Given the description of an element on the screen output the (x, y) to click on. 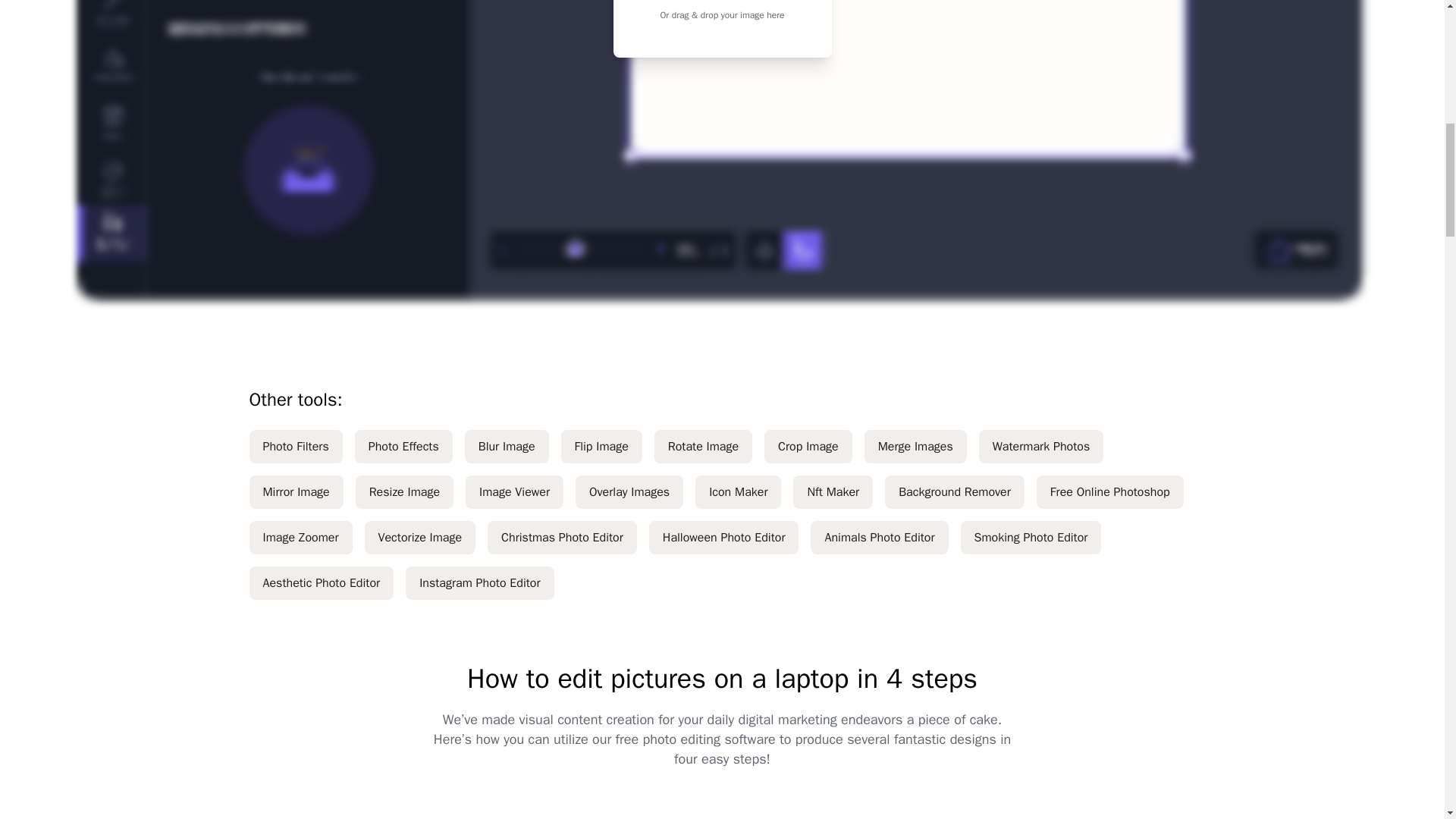
Christmas Photo Editor (562, 536)
Rotate Image (702, 445)
Crop Image (807, 445)
Image Viewer (514, 491)
Icon Maker (737, 491)
Merge Images (915, 445)
Animals Photo Editor (878, 536)
Resize Image (403, 491)
Image Zoomer (300, 536)
Nft Maker (832, 491)
Overlay Images (628, 491)
Vectorize Image (420, 536)
Photo Filters (295, 445)
Flip Image (601, 445)
Mirror Image (295, 491)
